Given the description of an element on the screen output the (x, y) to click on. 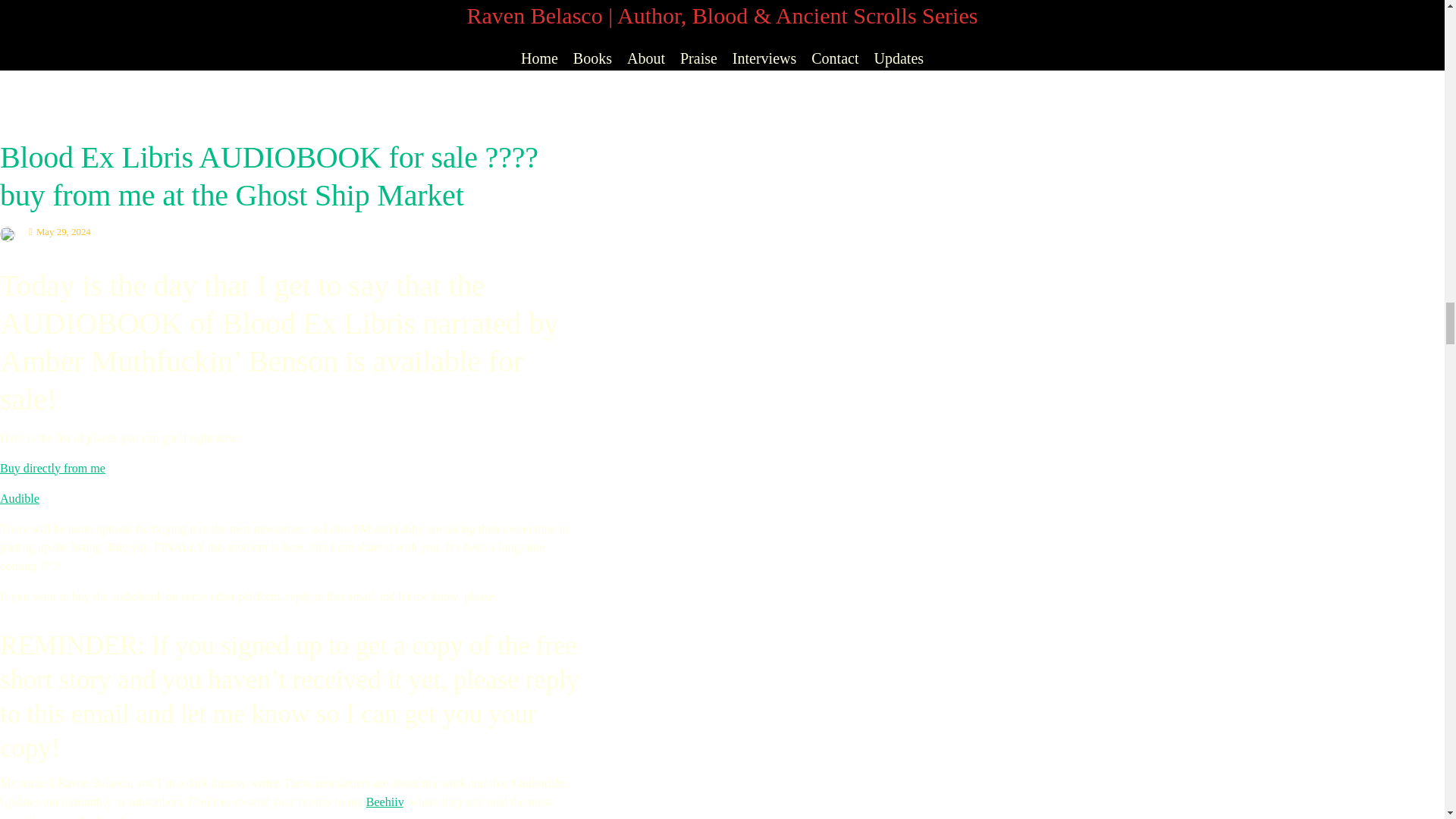
9:52 pm (59, 231)
View all posts by  (10, 231)
